Given the description of an element on the screen output the (x, y) to click on. 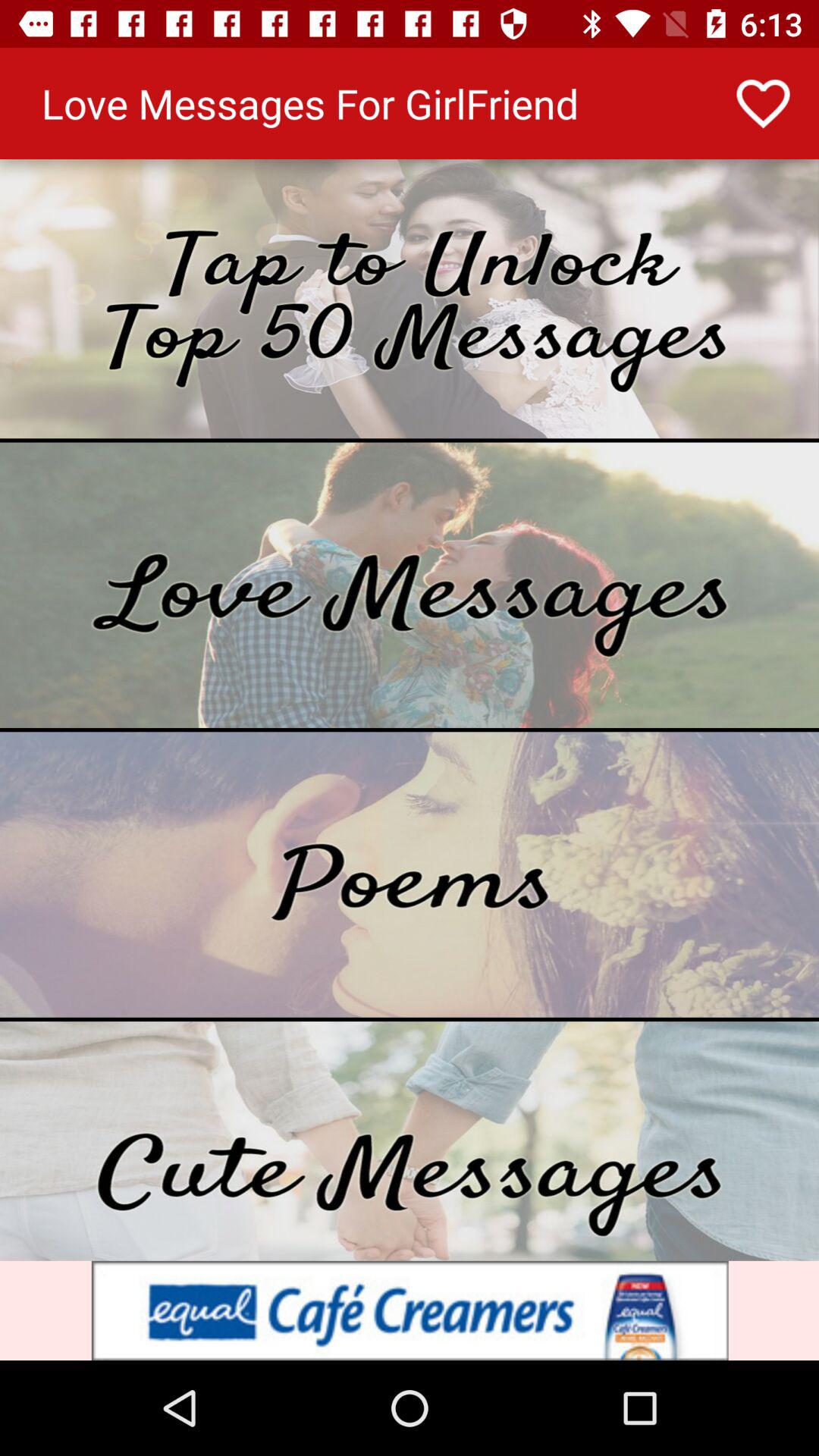
open love messages (409, 585)
